Given the description of an element on the screen output the (x, y) to click on. 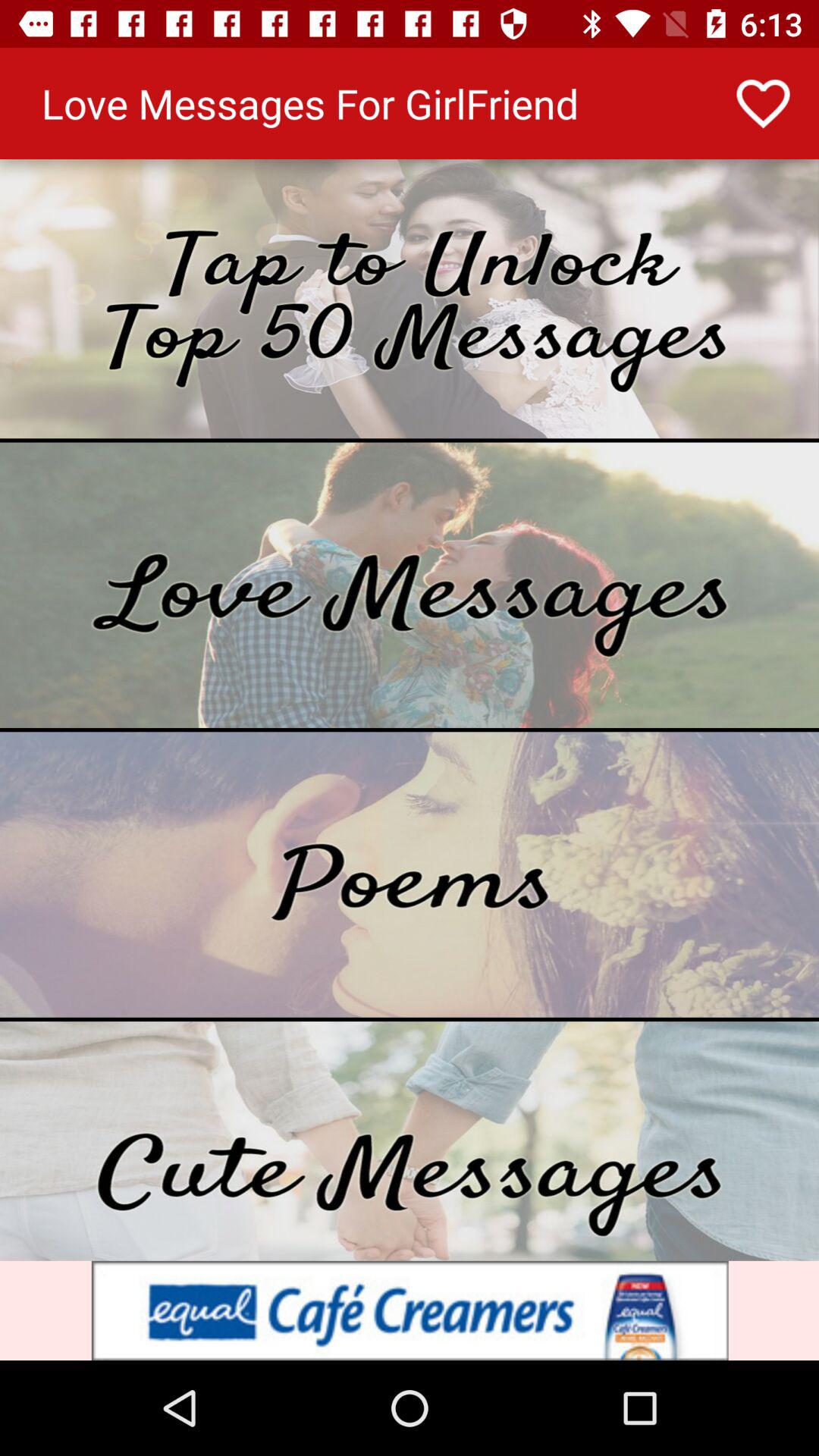
open love messages (409, 585)
